Given the description of an element on the screen output the (x, y) to click on. 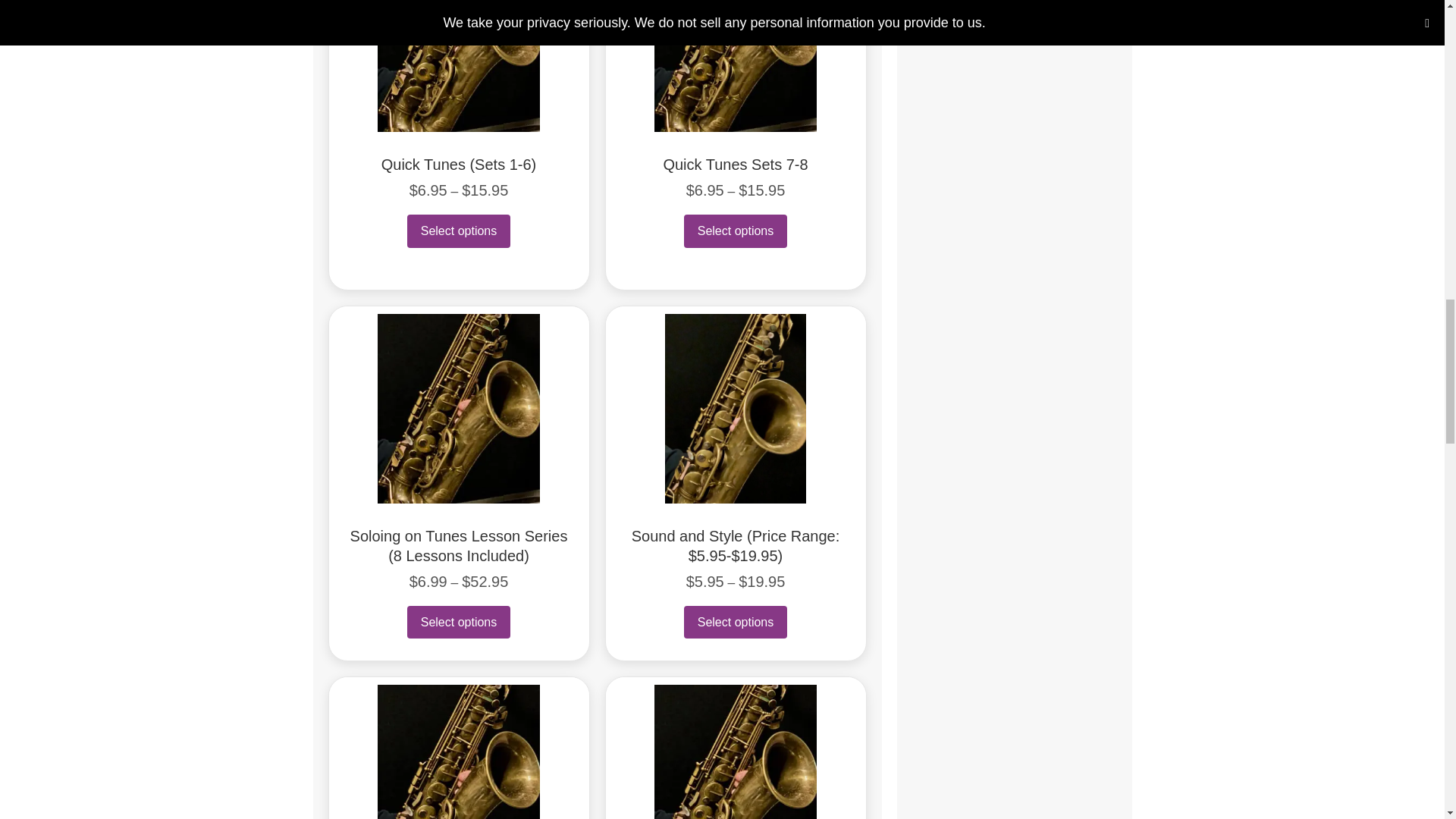
Quick Tunes Sets 7-8 (735, 164)
Quick Tunes Sets 7-8 (735, 164)
Quick Tunes Sets 7-8 (734, 36)
Select options (735, 622)
Select options (459, 622)
Select options (735, 230)
Select options (459, 230)
